Given the description of an element on the screen output the (x, y) to click on. 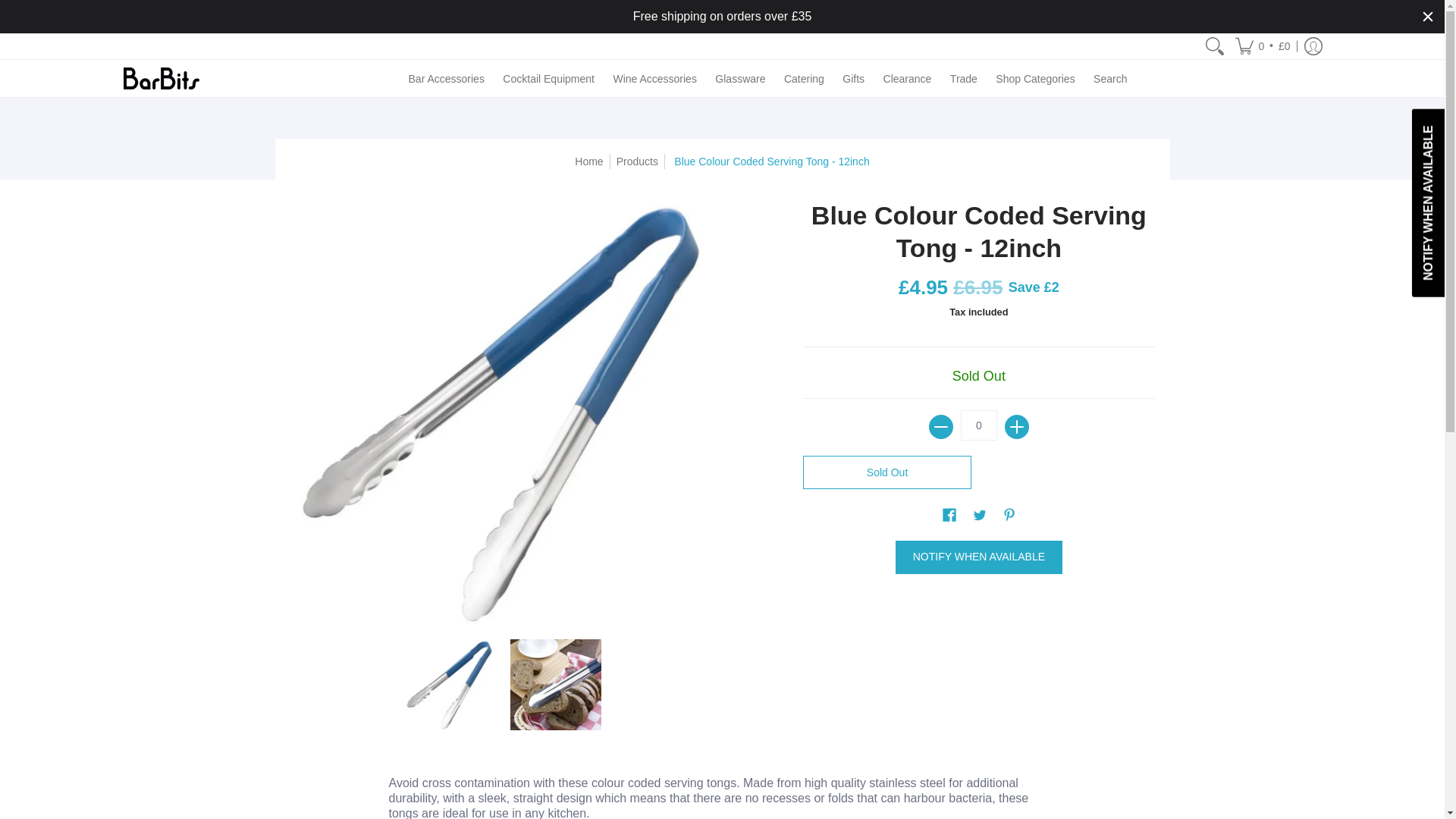
0 (978, 425)
Sold Out (887, 471)
Bar Accessories (446, 78)
Cocktail Equipment (548, 78)
Search (1214, 45)
Wine Accessories (654, 78)
Cart (1262, 45)
Log in (1312, 45)
BarBits.co.uk (160, 78)
Bar Accessories (446, 78)
